Given the description of an element on the screen output the (x, y) to click on. 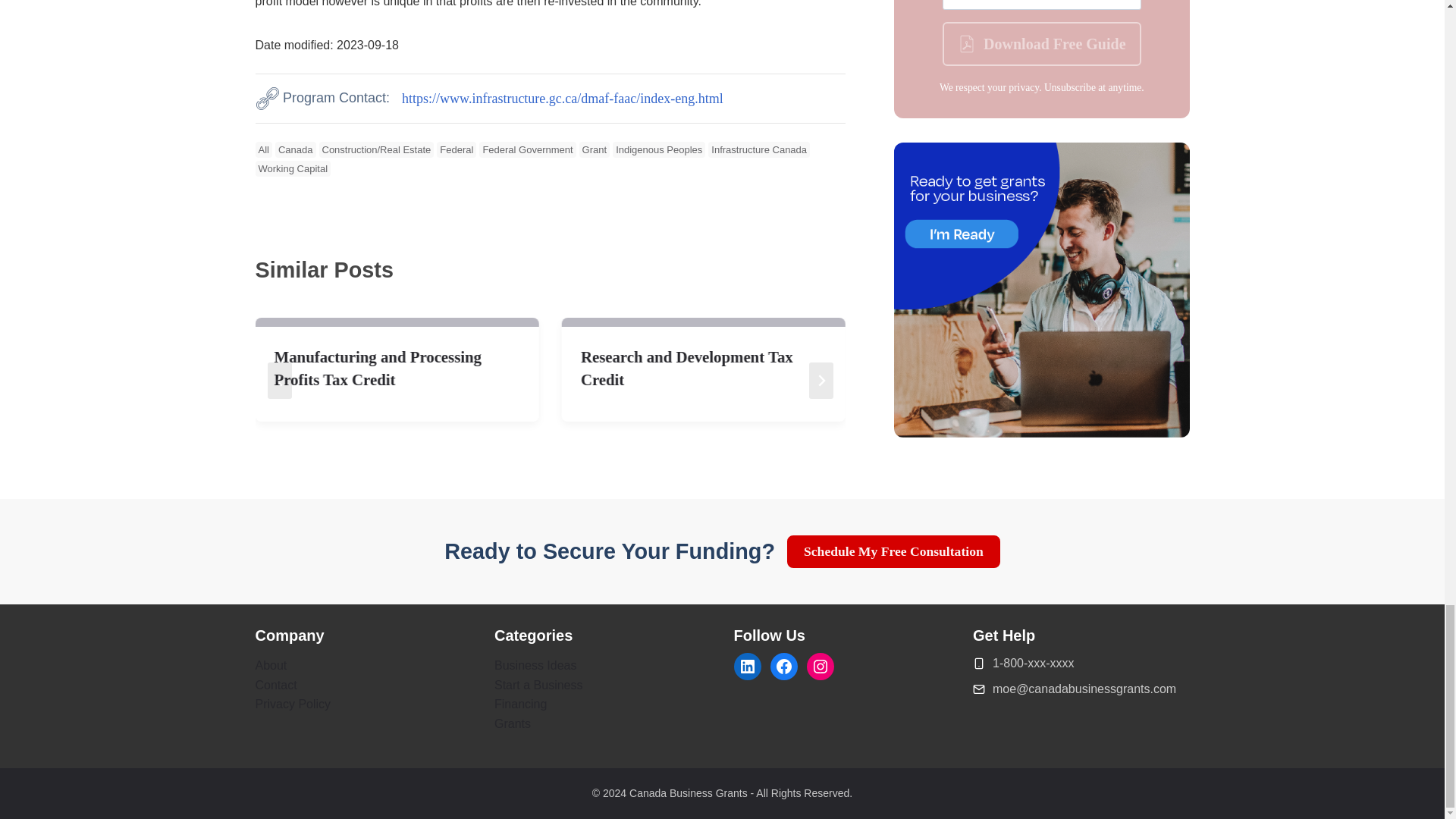
Canada (295, 149)
Infrastructure Canada (758, 149)
All (262, 149)
Federal (456, 149)
Manufacturing and Processing Profits Tax Credit (397, 368)
Working Capital (292, 168)
Indigenous Peoples (658, 149)
Schedule My Free Consultation (893, 551)
Research and Development Tax Credit (703, 368)
Federal Government (526, 149)
Grant (594, 149)
